Given the description of an element on the screen output the (x, y) to click on. 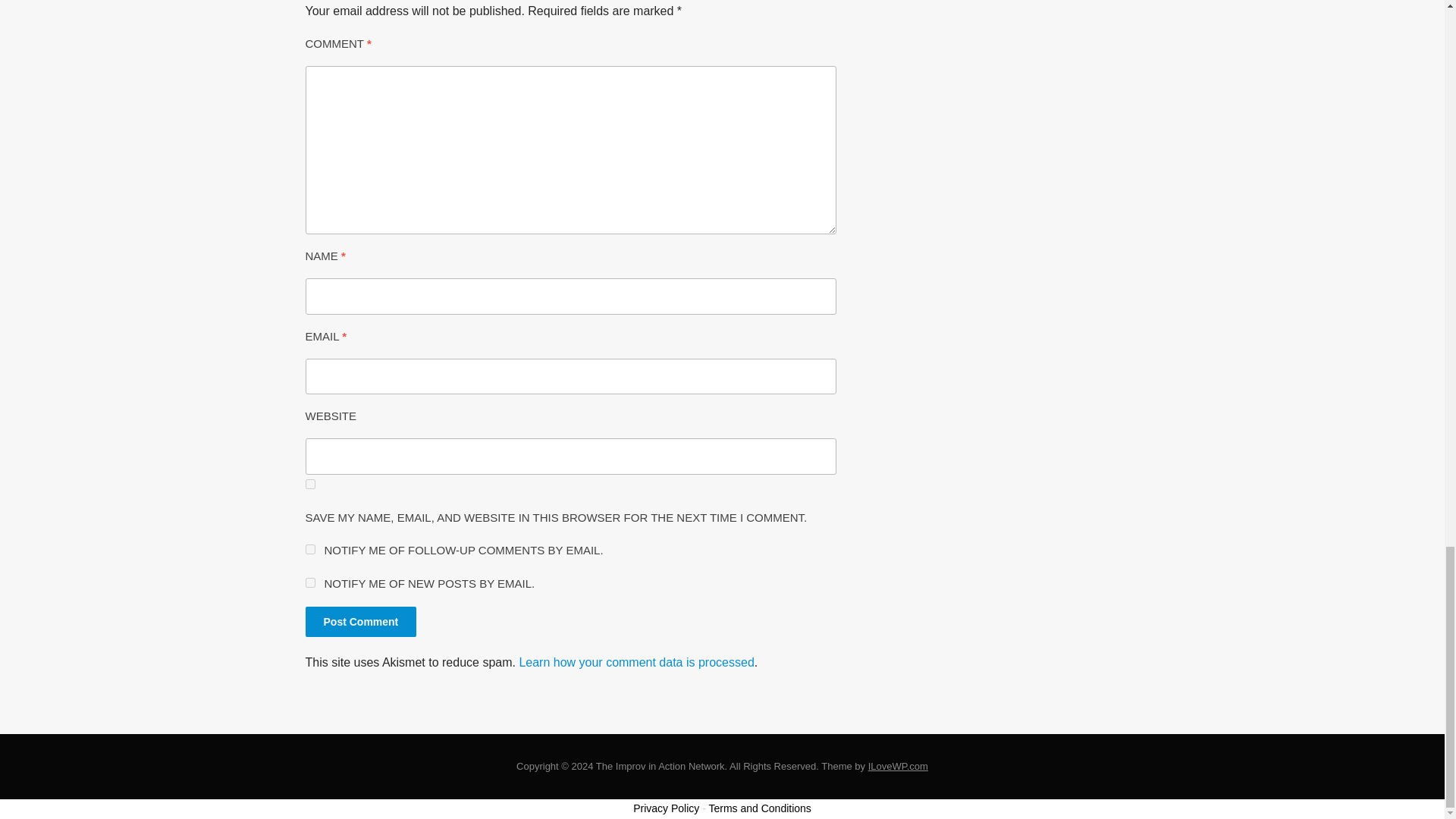
subscribe (309, 583)
subscribe (309, 549)
Post Comment (360, 621)
Podcast WordPress Themes (897, 766)
yes (309, 483)
